Given the description of an element on the screen output the (x, y) to click on. 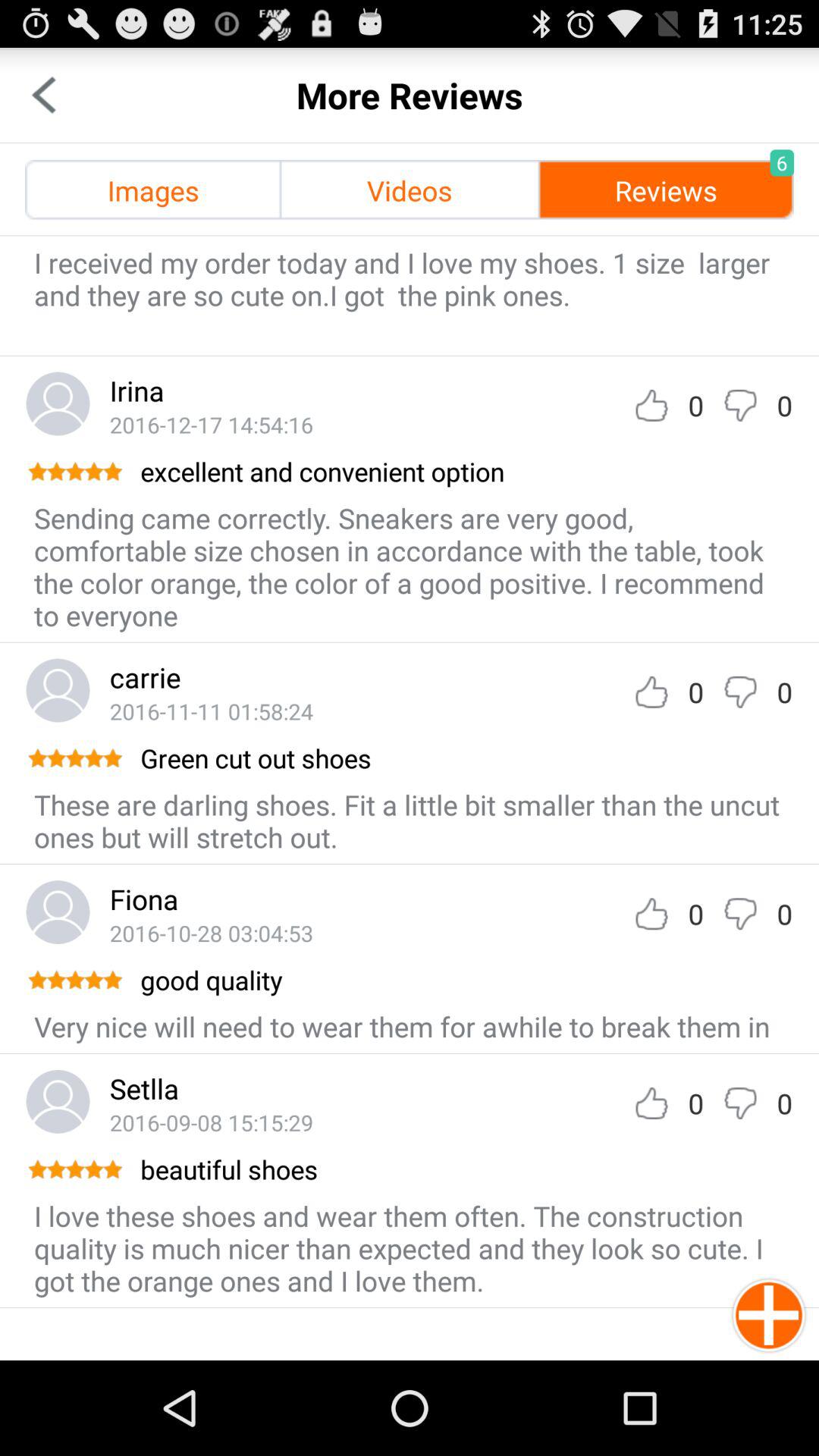
tap the fiona icon (143, 898)
